Given the description of an element on the screen output the (x, y) to click on. 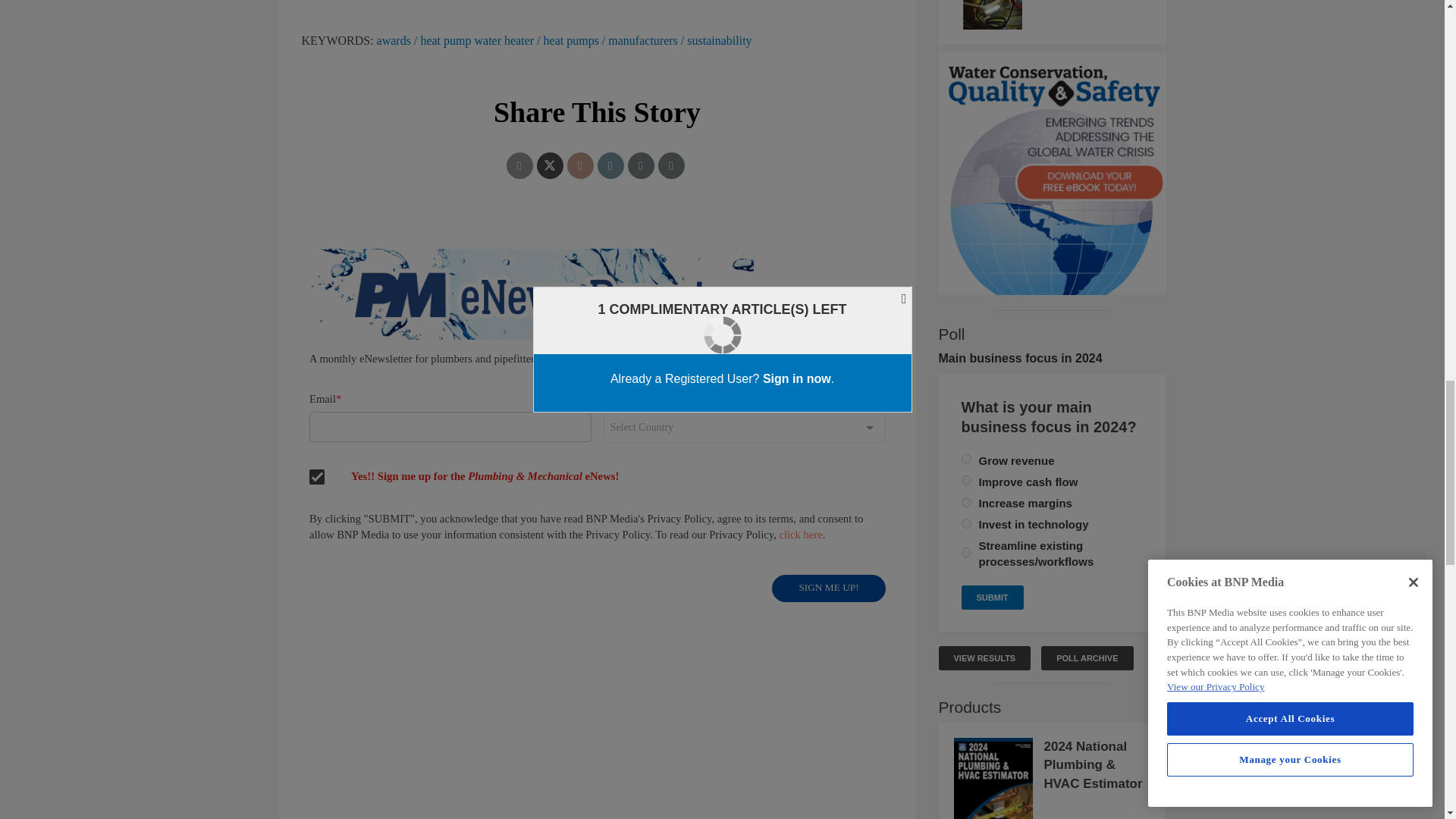
316 (965, 480)
317 (965, 501)
318 (965, 552)
320 (965, 523)
319 (965, 459)
Submit (991, 597)
